Given the description of an element on the screen output the (x, y) to click on. 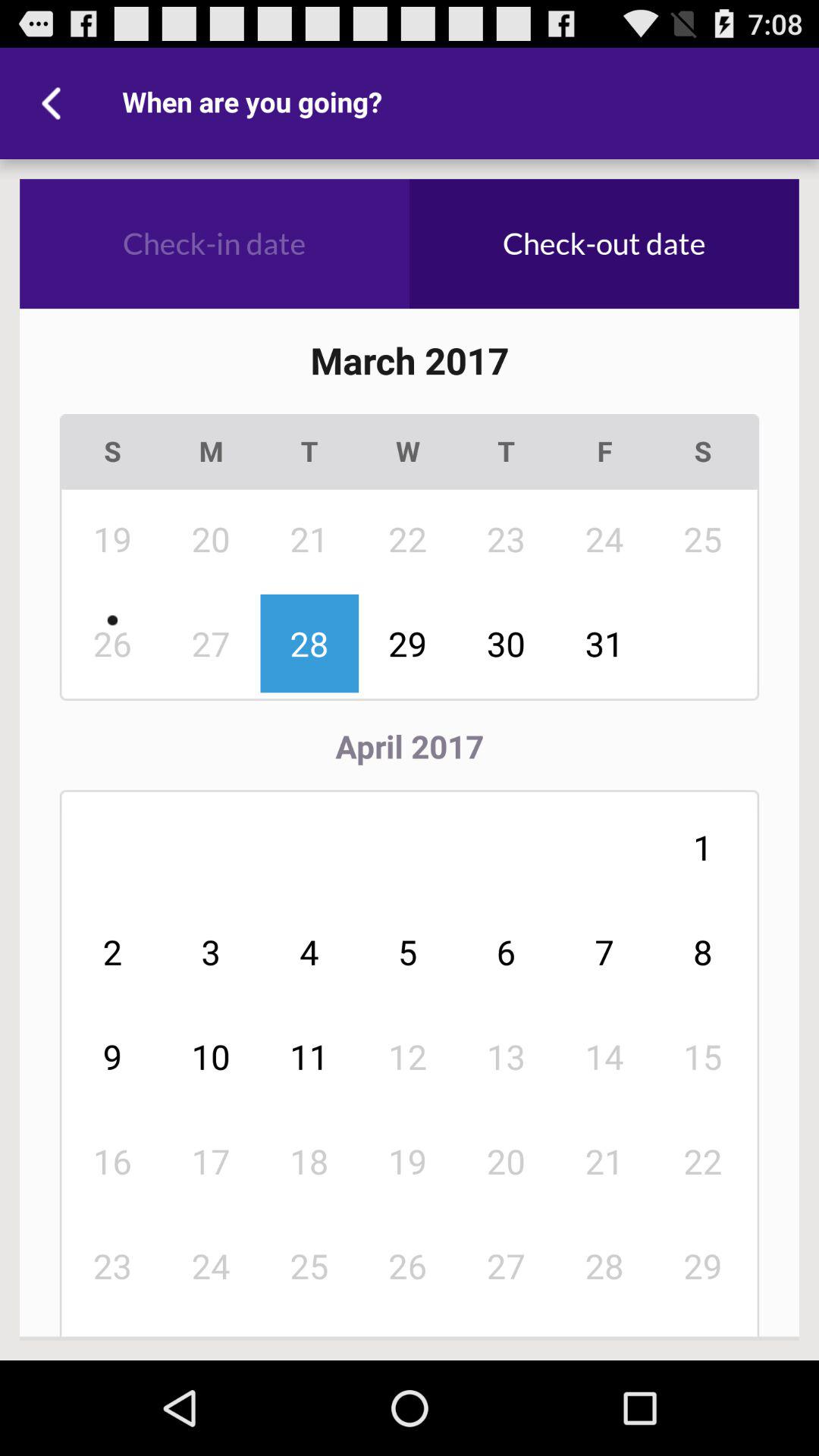
press icon below the 9 icon (211, 1160)
